Given the description of an element on the screen output the (x, y) to click on. 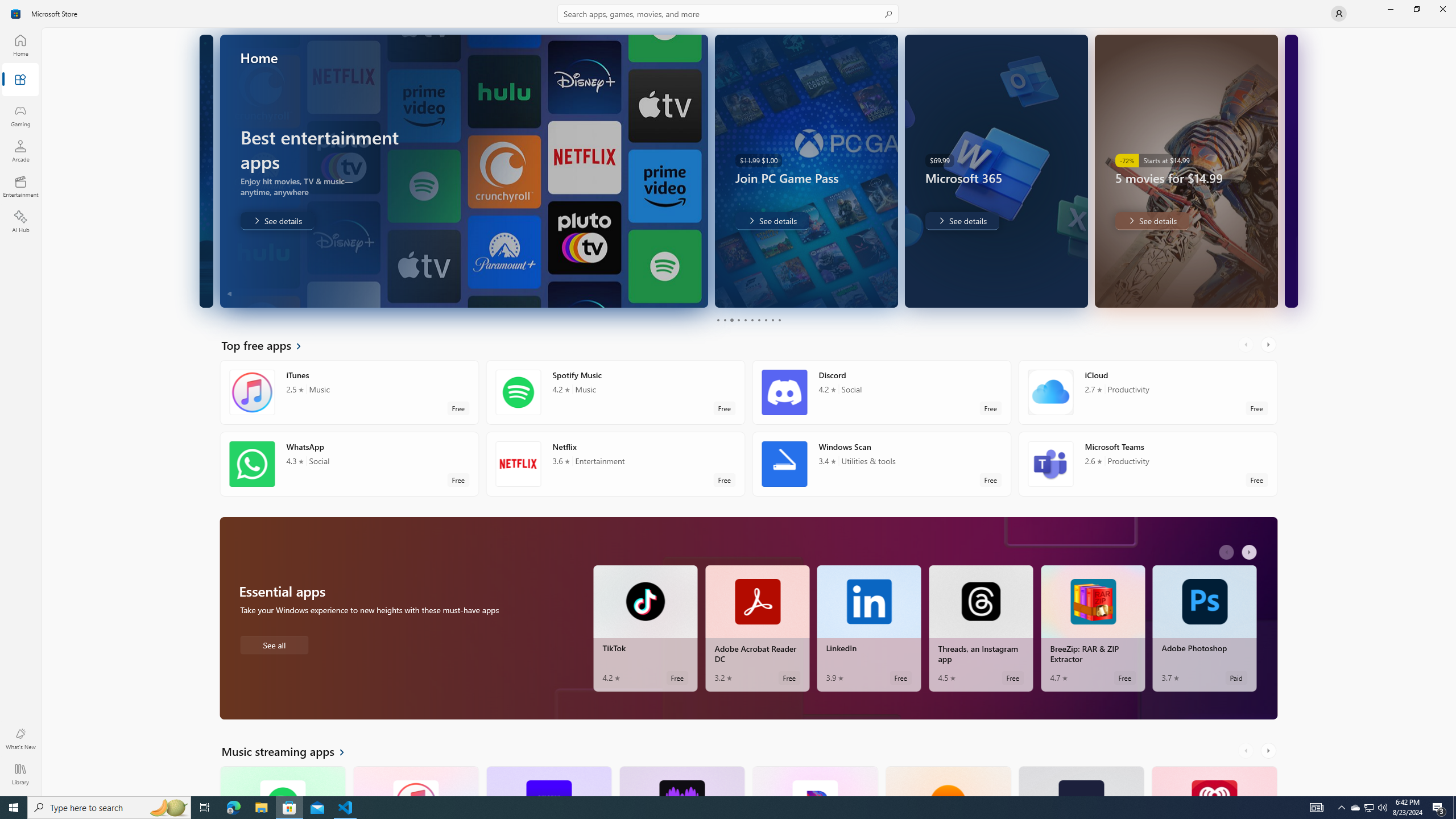
What's New (20, 738)
Close Microsoft Store (1442, 9)
TikTok. Average rating of 4.2 out of five stars. Free   (644, 628)
Pandora. Average rating of 4.5 out of five stars. Free   (814, 780)
Pager (748, 319)
AutomationID: Image (1290, 170)
Page 2 (724, 319)
AutomationID: NavigationControl (728, 398)
